Given the description of an element on the screen output the (x, y) to click on. 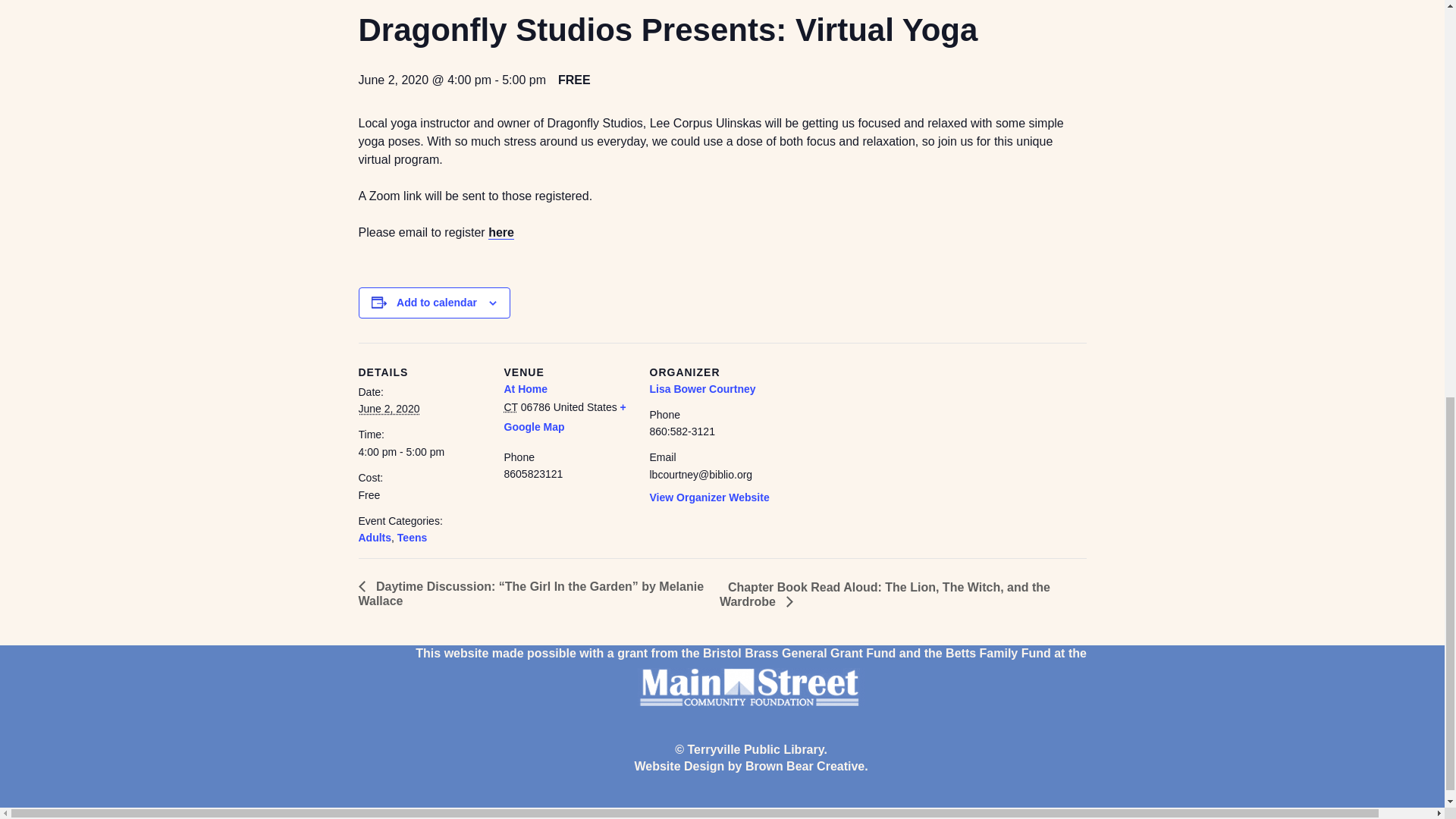
Lisa Bower Courtney (702, 388)
Connecticut (509, 407)
Click to view a Google Map (564, 417)
2020-06-02 (421, 451)
2020-06-02 (388, 408)
